Given the description of an element on the screen output the (x, y) to click on. 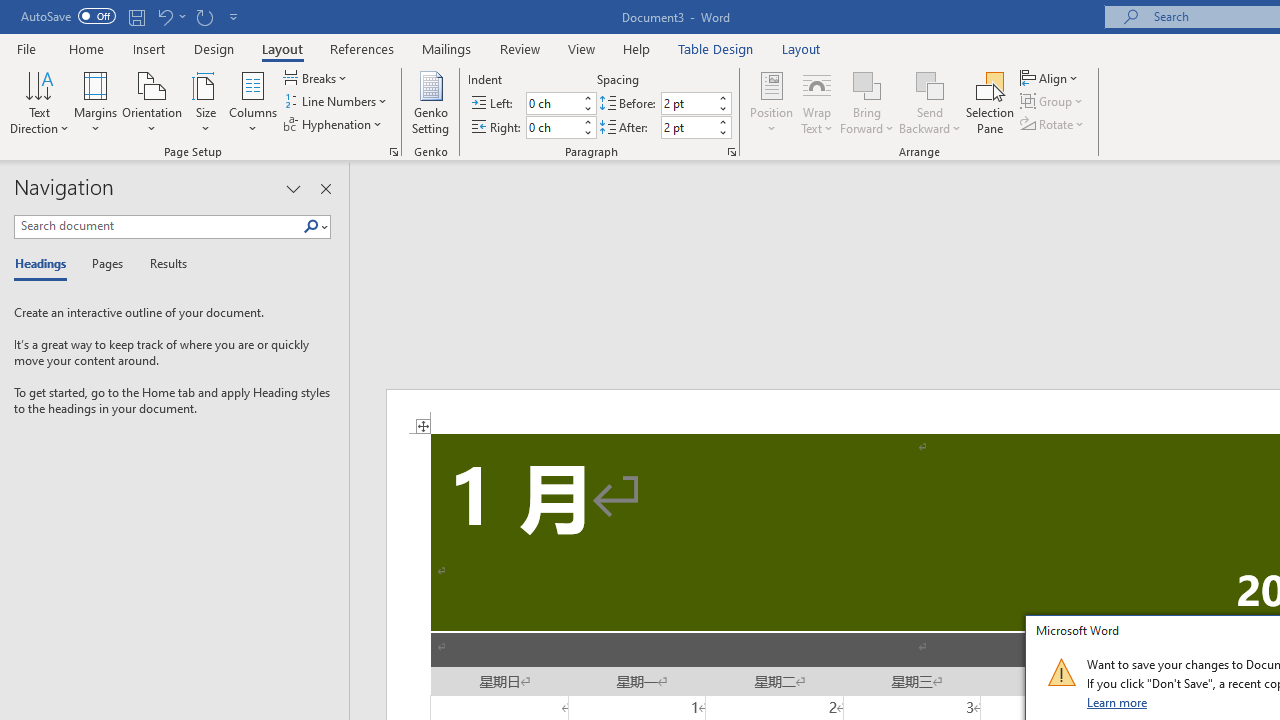
Indent Left (552, 103)
Selection Pane... (990, 102)
Size (205, 102)
Wrap Text (817, 102)
